Given the description of an element on the screen output the (x, y) to click on. 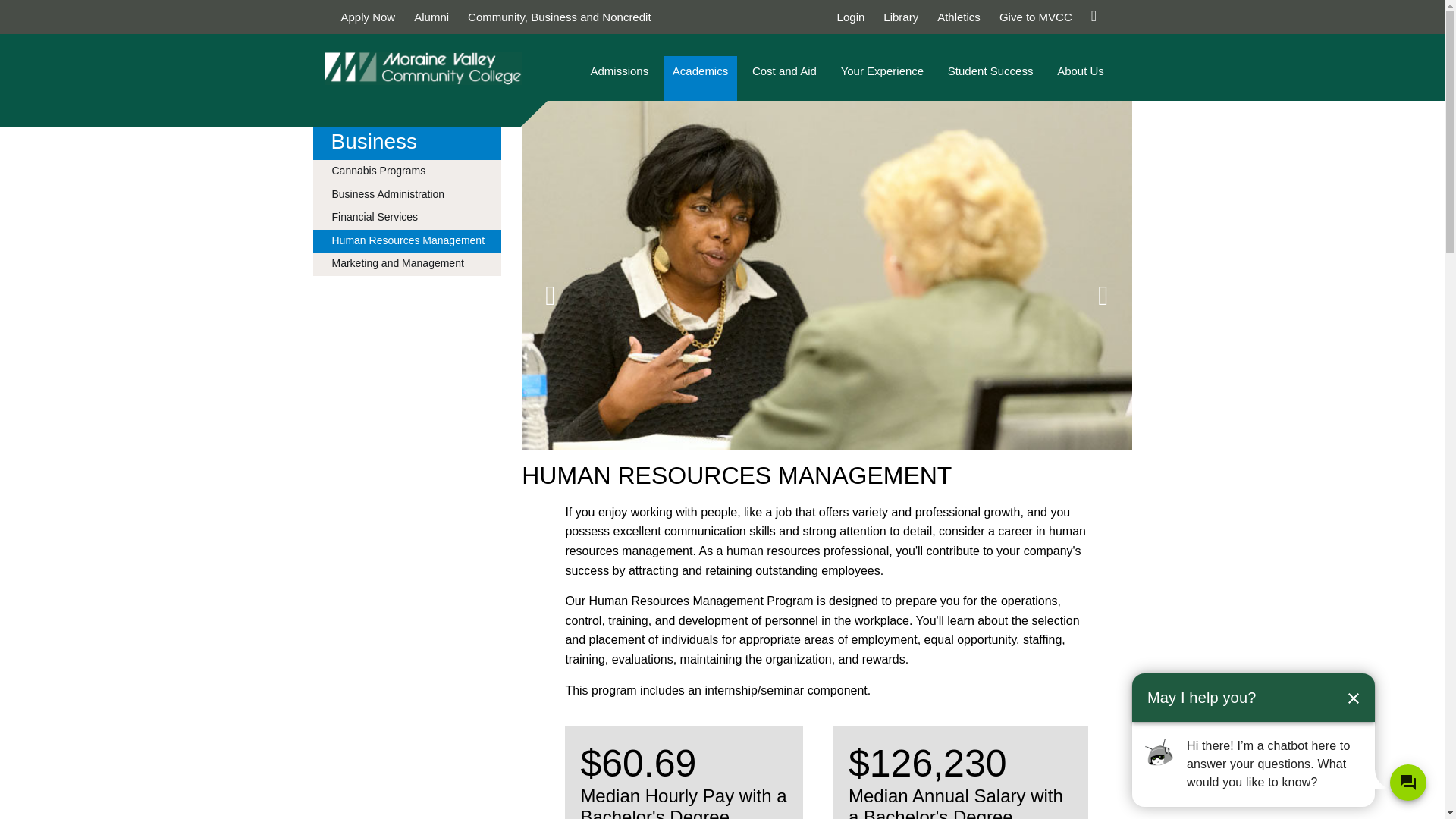
Give to MVCC (1034, 16)
Admissions (619, 78)
Apply Now (368, 16)
Academics (699, 78)
Library (900, 16)
Alumni (430, 16)
Athletics (958, 16)
Community, Business and Noncredit (558, 16)
Login (850, 16)
